Given the description of an element on the screen output the (x, y) to click on. 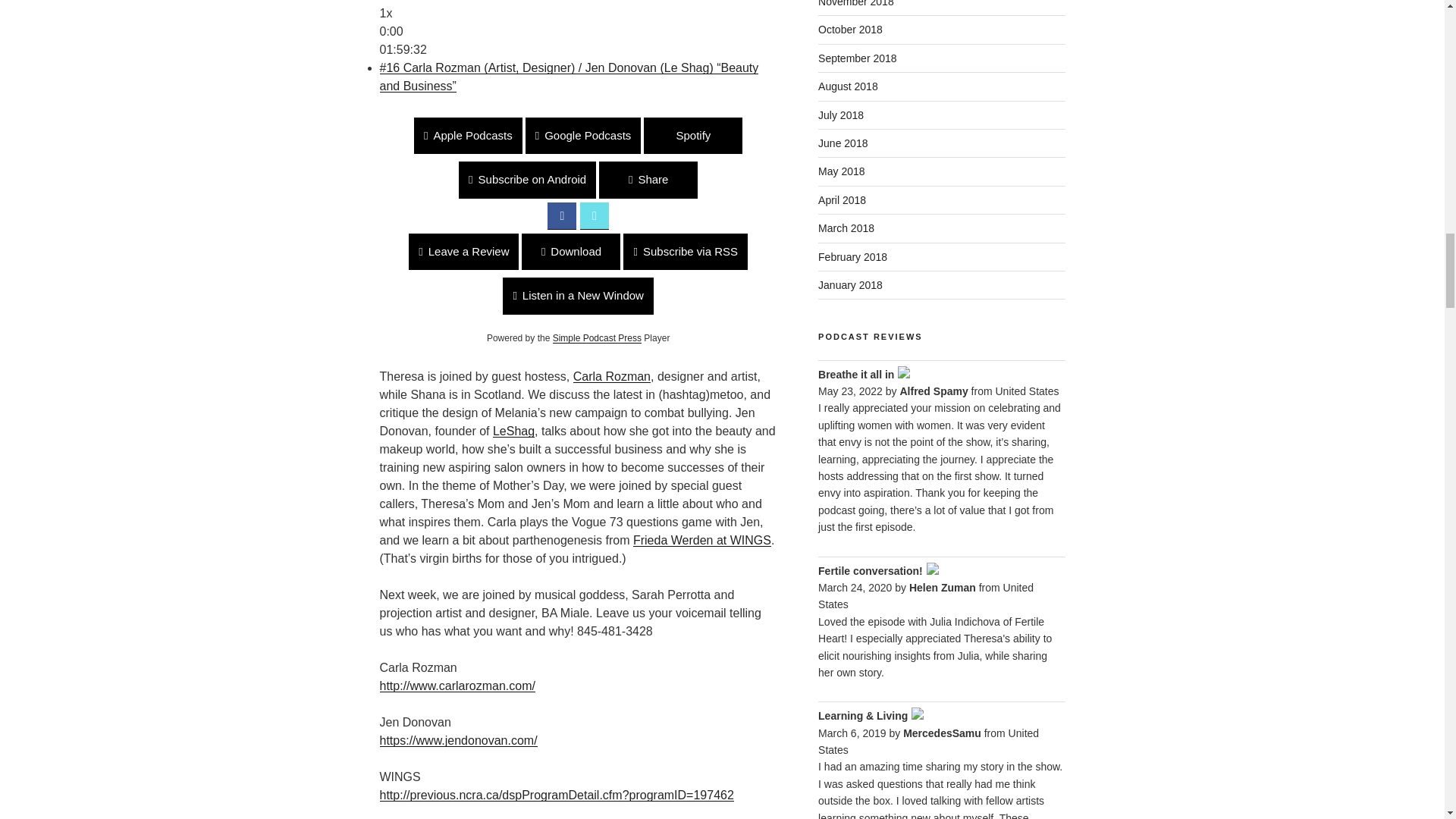
Share on Facebook (561, 215)
Share on Twitter (593, 215)
